Given the description of an element on the screen output the (x, y) to click on. 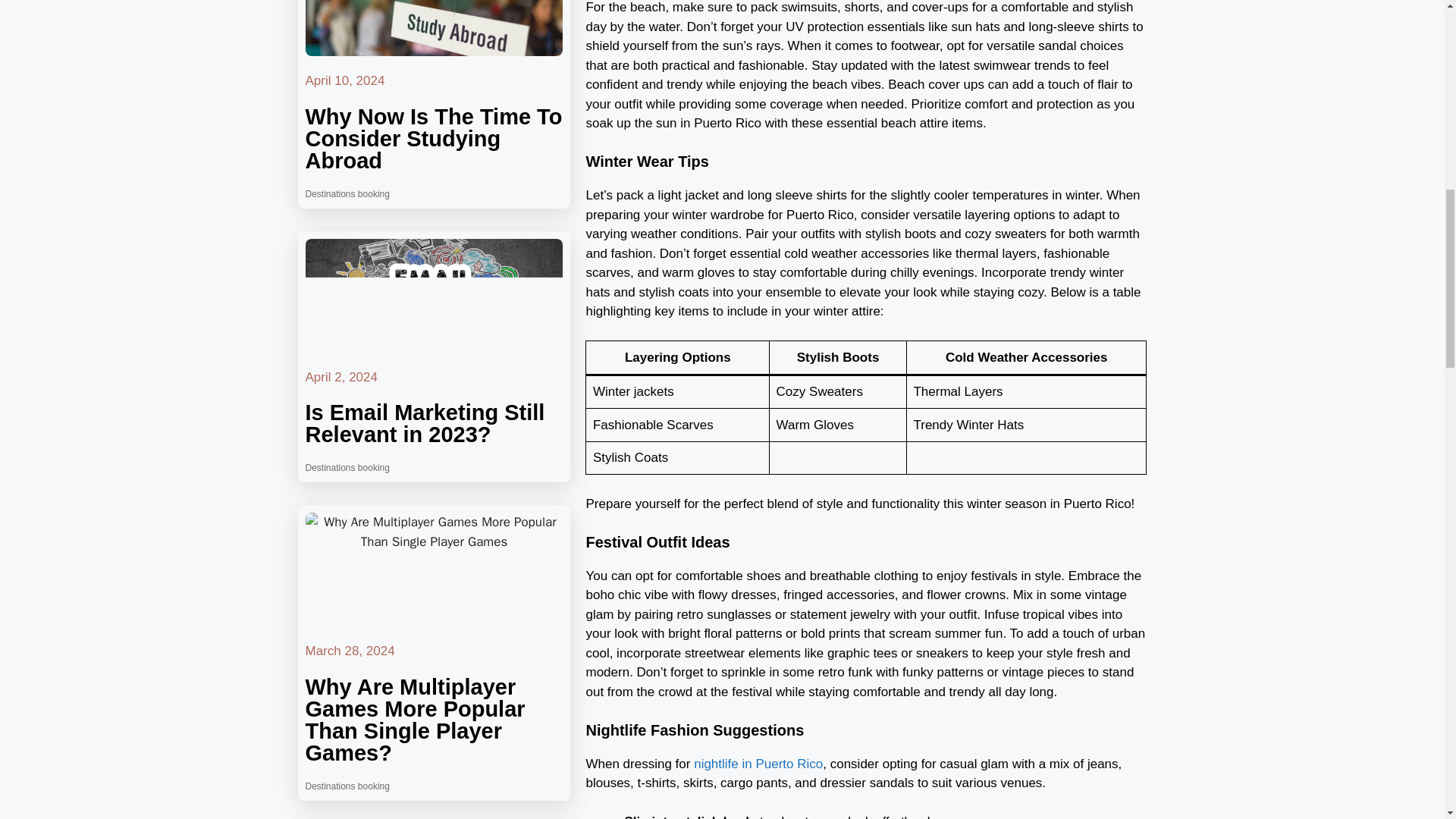
Destinations booking (346, 193)
Destinations booking (346, 786)
nightlife in Puerto Rico (758, 763)
Why Now Is The Time To Consider Studying Abroad (433, 138)
Is Email Marketing Still Relevant in 2023? (424, 423)
Destinations booking (346, 467)
